Given the description of an element on the screen output the (x, y) to click on. 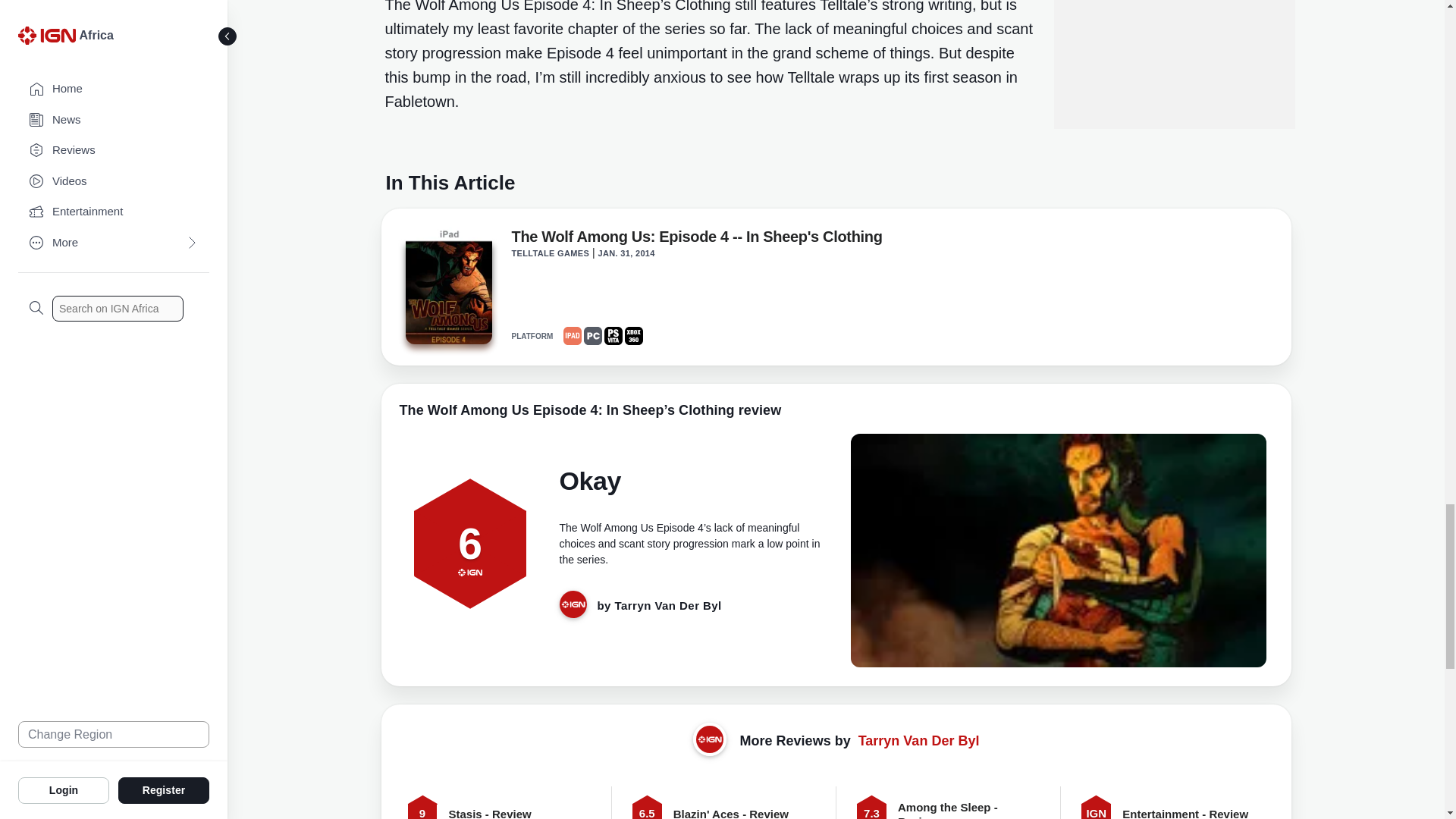
The Wolf Among Us: Episode 4 -- In Sheep's Clothing (696, 239)
Tarryn Van Der Byl (668, 604)
Tarryn Van Der Byl (919, 740)
PC (592, 335)
The Wolf Among Us: Episode 4 -- In Sheep's Clothing (696, 239)
